Given the description of an element on the screen output the (x, y) to click on. 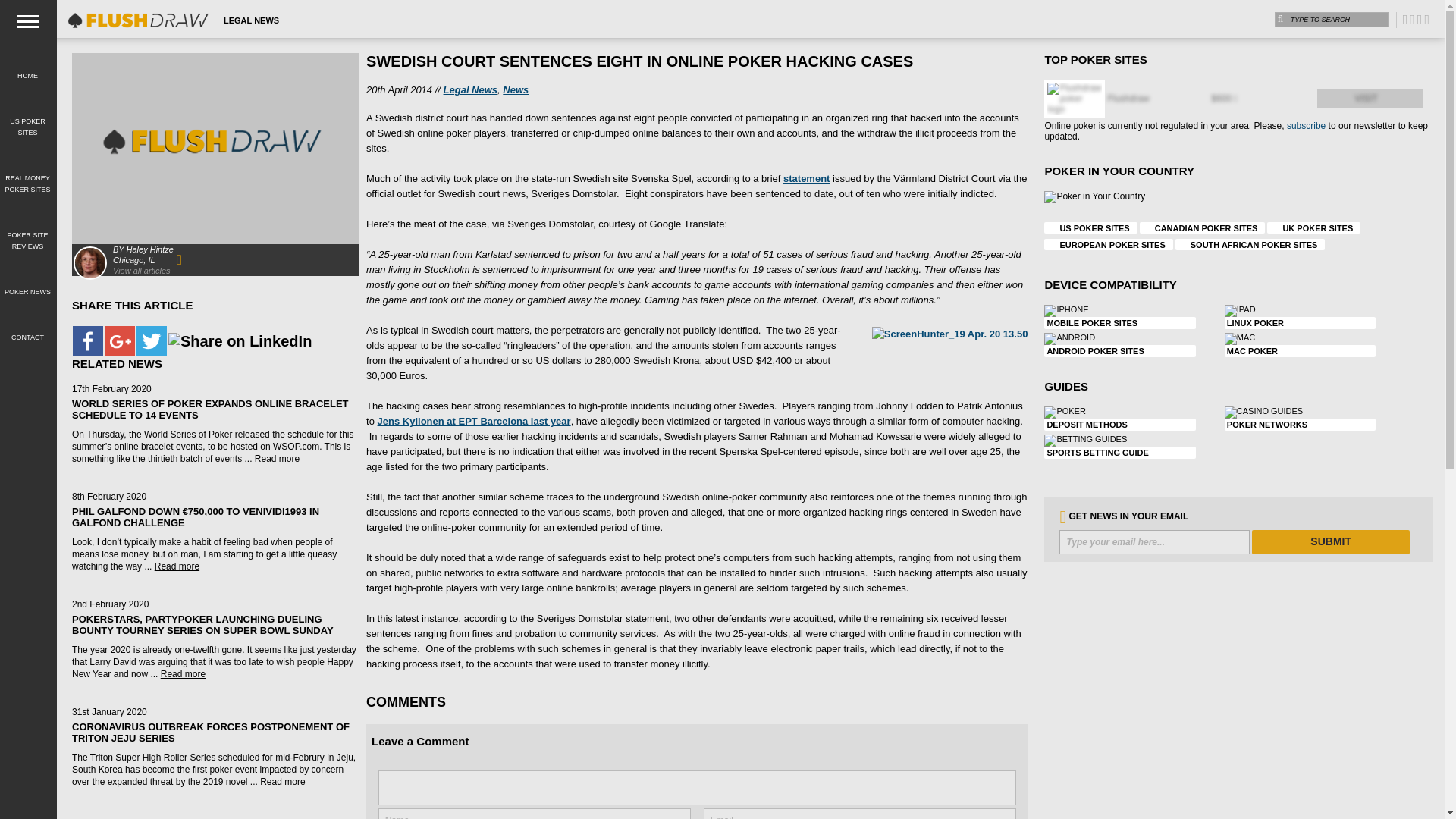
Read more (276, 458)
LinkedIn (240, 341)
Twitter (151, 341)
US POKER SITES (28, 117)
Facebook (87, 341)
SUBMIT (1330, 541)
View all articles (141, 270)
LEGAL NEWS (250, 20)
REAL MONEY POKER SITES (28, 174)
